Given the description of an element on the screen output the (x, y) to click on. 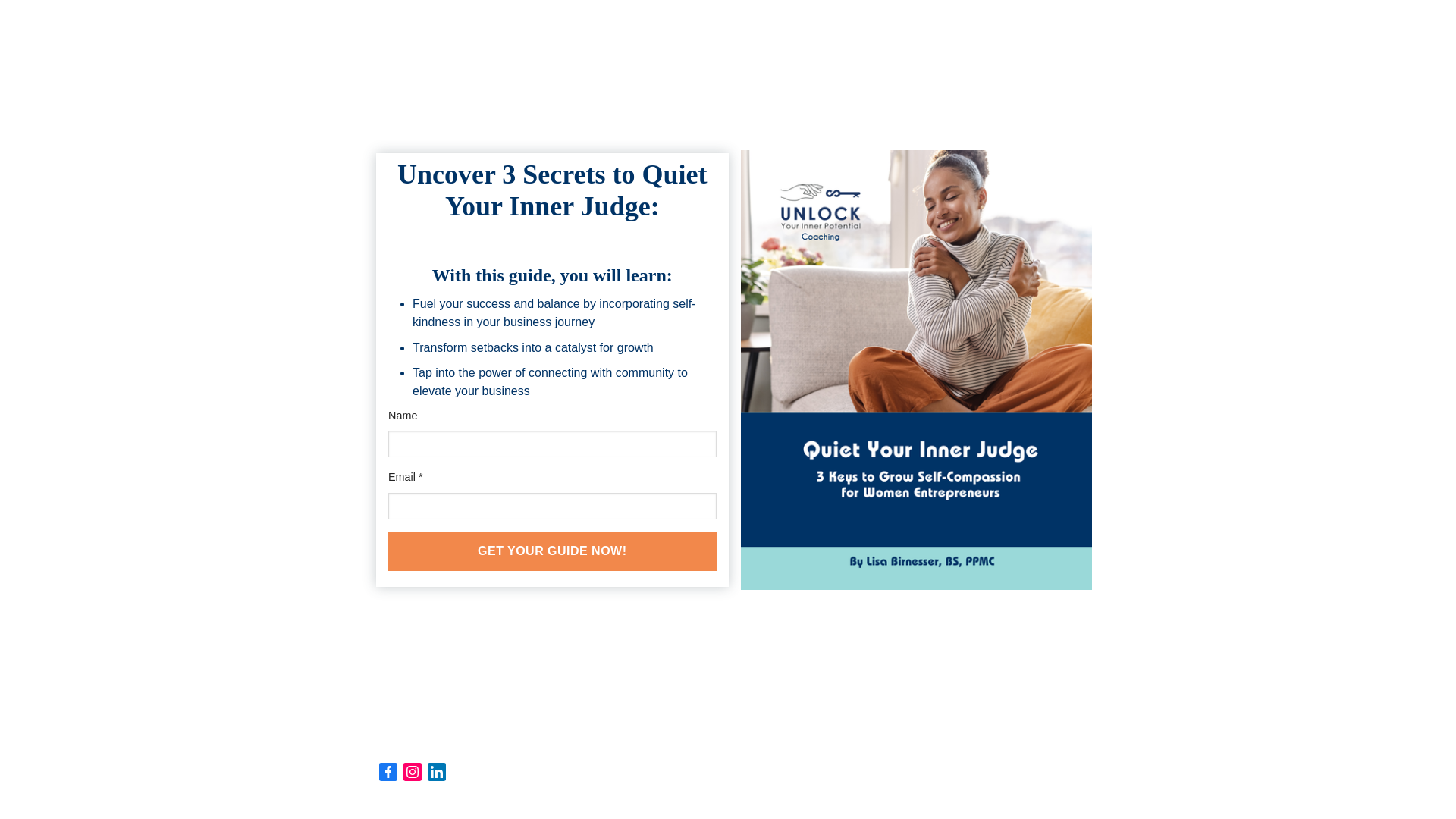
Instagram (412, 771)
Instagram (412, 771)
Facebook (387, 771)
LinkedIn (436, 771)
LinkedIn (436, 771)
GET YOUR GUIDE NOW! (552, 550)
Facebook (387, 771)
